Given the description of an element on the screen output the (x, y) to click on. 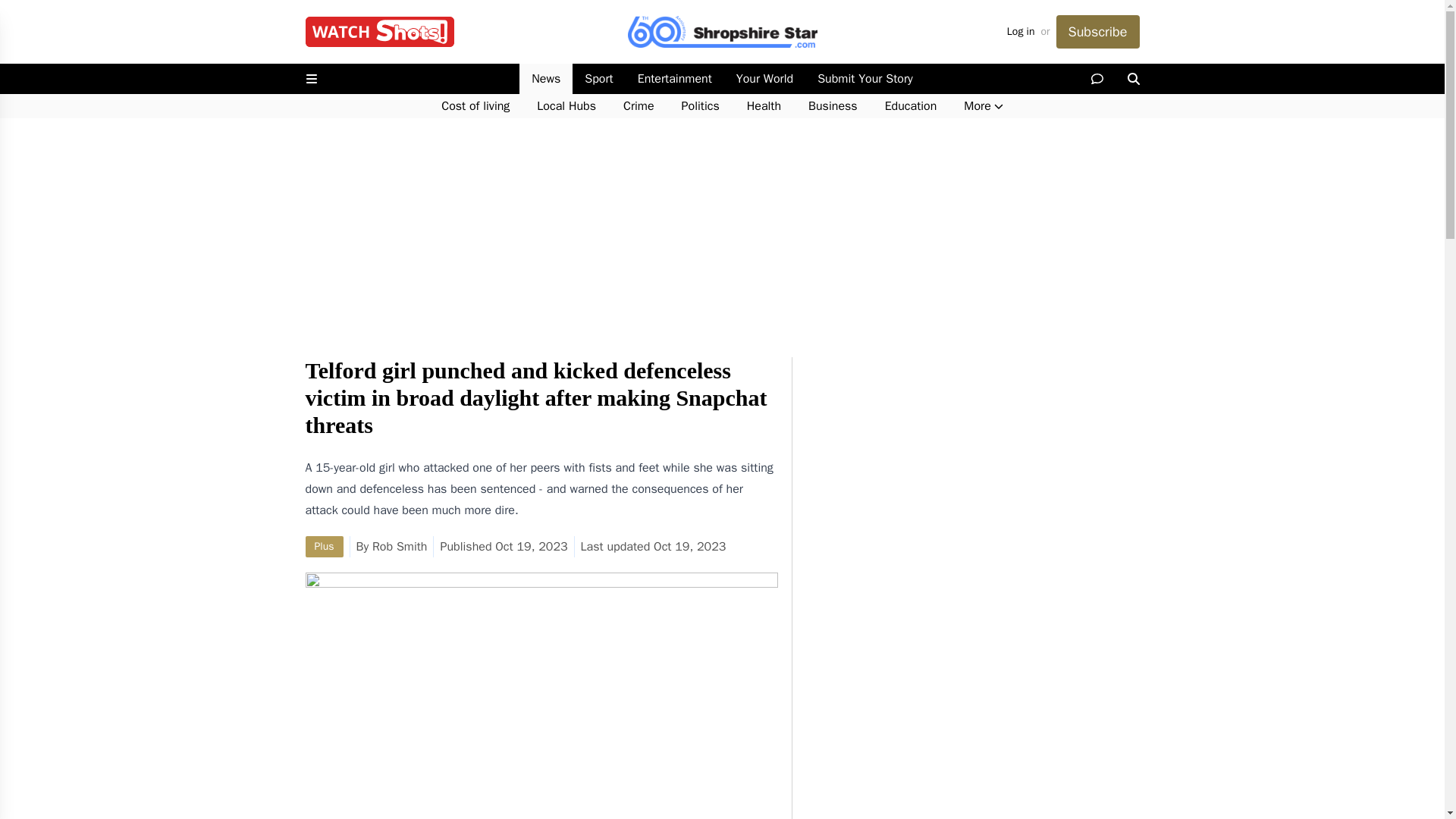
Education (910, 105)
Log in (1021, 31)
Subscribe (1096, 31)
News (545, 78)
Submit Your Story (864, 78)
Cost of living (475, 105)
Health (764, 105)
Politics (700, 105)
Local Hubs (566, 105)
Sport (598, 78)
Your World (764, 78)
Business (832, 105)
Crime (638, 105)
More (983, 105)
Entertainment (674, 78)
